Given the description of an element on the screen output the (x, y) to click on. 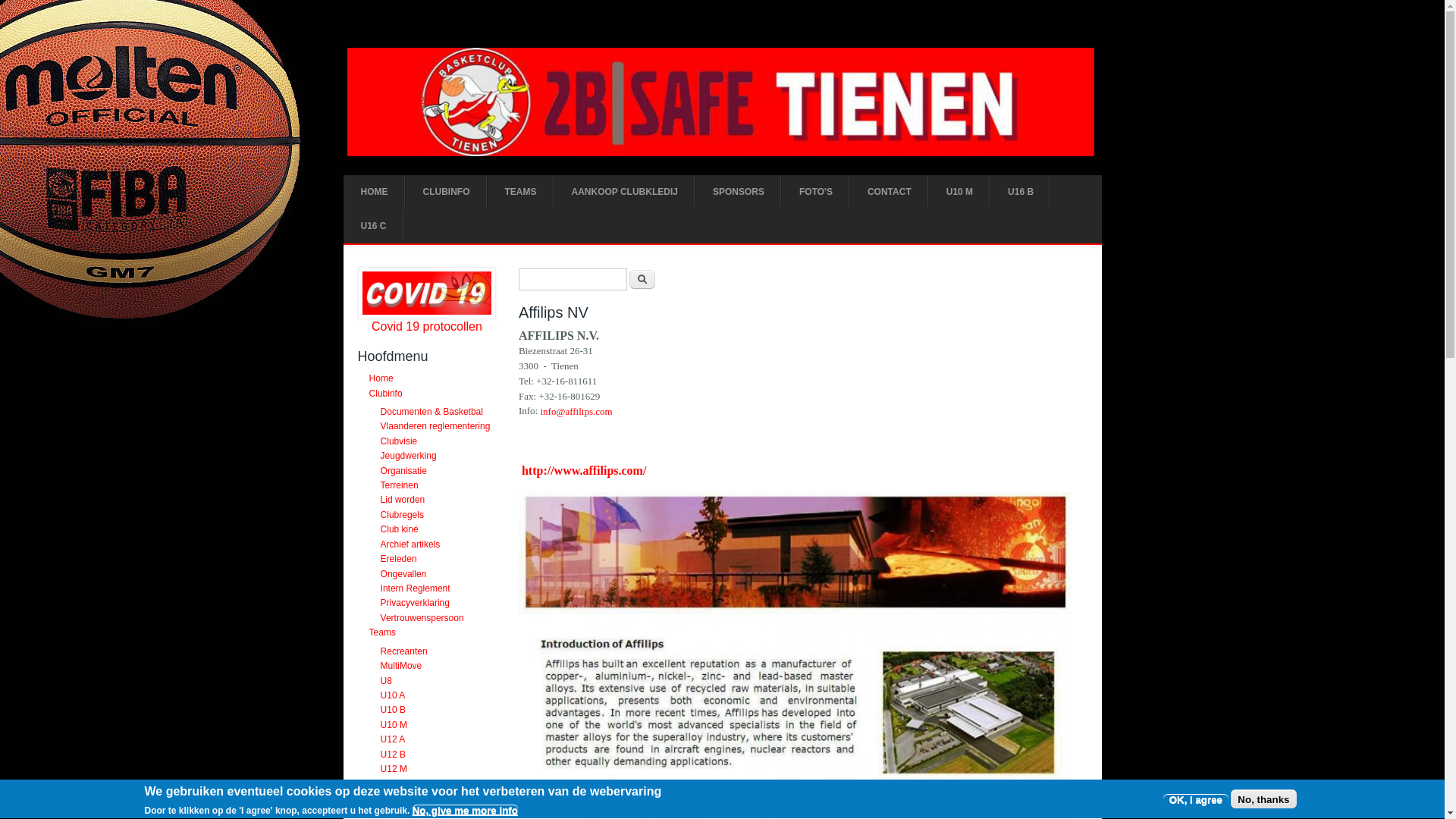
U12 B Element type: text (392, 754)
Organisatie Element type: text (403, 470)
U10 B Element type: text (392, 710)
No, give me more info Element type: text (464, 810)
Intern Reglement Element type: text (415, 588)
Zoeken Element type: text (642, 278)
Archief artikels Element type: text (410, 544)
OK, I agree Element type: text (1195, 799)
Home Element type: hover (720, 101)
U16 B Element type: text (1020, 192)
Privacyverklaring Element type: text (414, 603)
Covid 19 protocollen Element type: text (426, 325)
HOME Element type: text (373, 192)
Home Element type: text (381, 378)
Terreinen Element type: text (399, 485)
U10 A Element type: text (392, 695)
U14 B Element type: text (392, 798)
U16 C Element type: text (372, 226)
U14 A Element type: text (392, 783)
info@affilips.com Element type: text (575, 411)
U12 A Element type: text (392, 739)
SPONSORS Element type: text (738, 192)
CLUBINFO Element type: text (445, 192)
FOTO'S Element type: text (815, 192)
Vertrouwenspersoon Element type: text (422, 617)
U8 Element type: text (386, 680)
Teams Element type: text (382, 632)
Clubinfo Element type: text (385, 393)
Recreanten Element type: text (403, 651)
AANKOOP CLUBKLEDIJ Element type: text (623, 192)
CONTACT Element type: text (889, 192)
Jeugdwerking Element type: text (408, 455)
Clubvisie Element type: text (398, 441)
U10 M Element type: text (393, 724)
No, thanks Element type: text (1262, 799)
Documenten & Basketbal Vlaanderen reglementering Element type: text (435, 418)
TEAMS Element type: text (519, 192)
Overslaan en naar de algemene inhoud gaan Element type: text (91, 0)
Ereleden Element type: text (398, 558)
Clubregels Element type: text (401, 514)
Ongevallen Element type: text (403, 573)
Lid worden Element type: text (402, 500)
U12 M Element type: text (393, 768)
U10 M Element type: text (959, 192)
MultiMove Element type: text (401, 665)
http://www.affilips.com/ Element type: text (583, 468)
Geef de woorden op waarnaar u wilt zoeken. Element type: hover (572, 279)
